Given the description of an element on the screen output the (x, y) to click on. 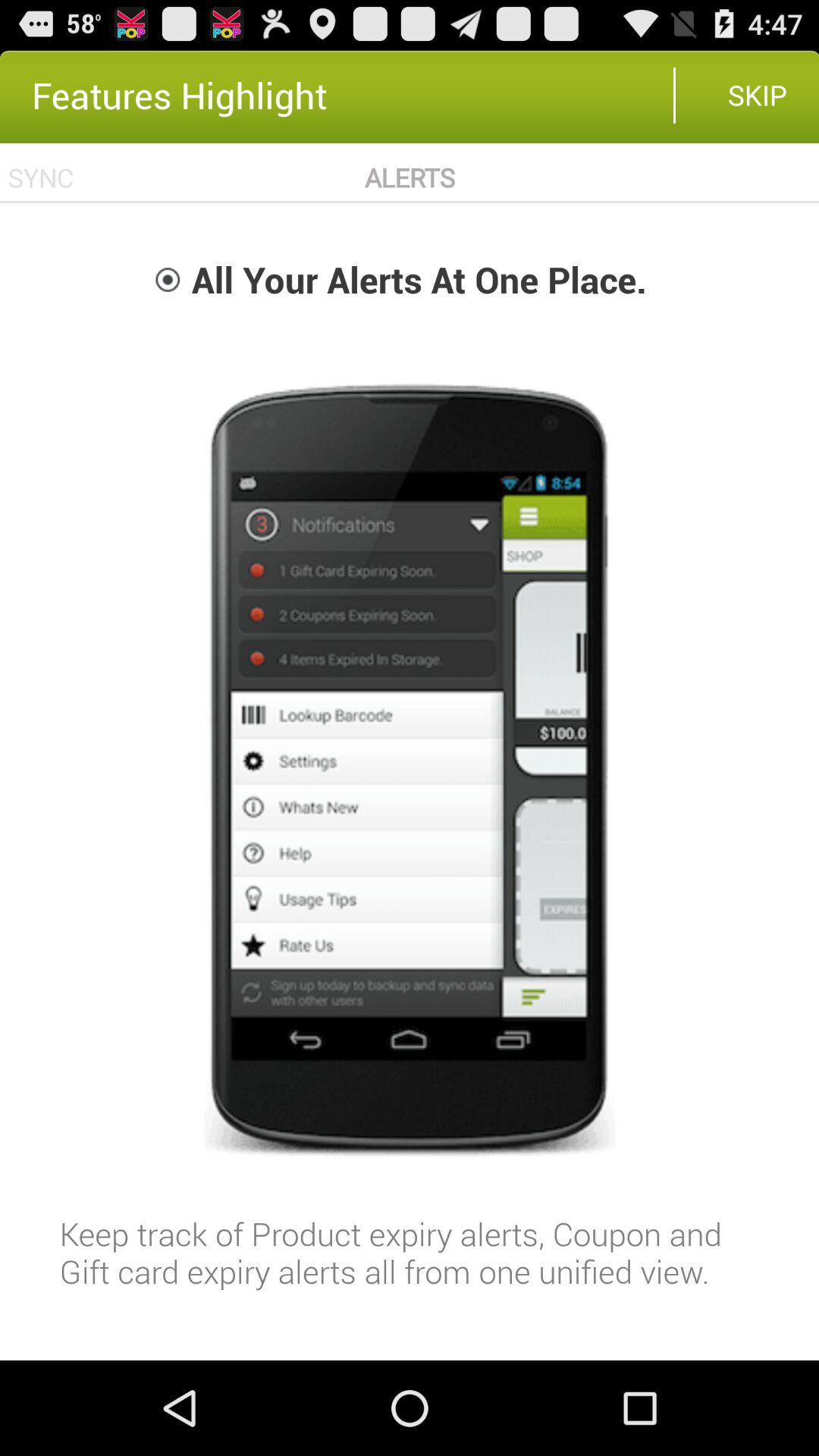
swipe to skip item (757, 95)
